Given the description of an element on the screen output the (x, y) to click on. 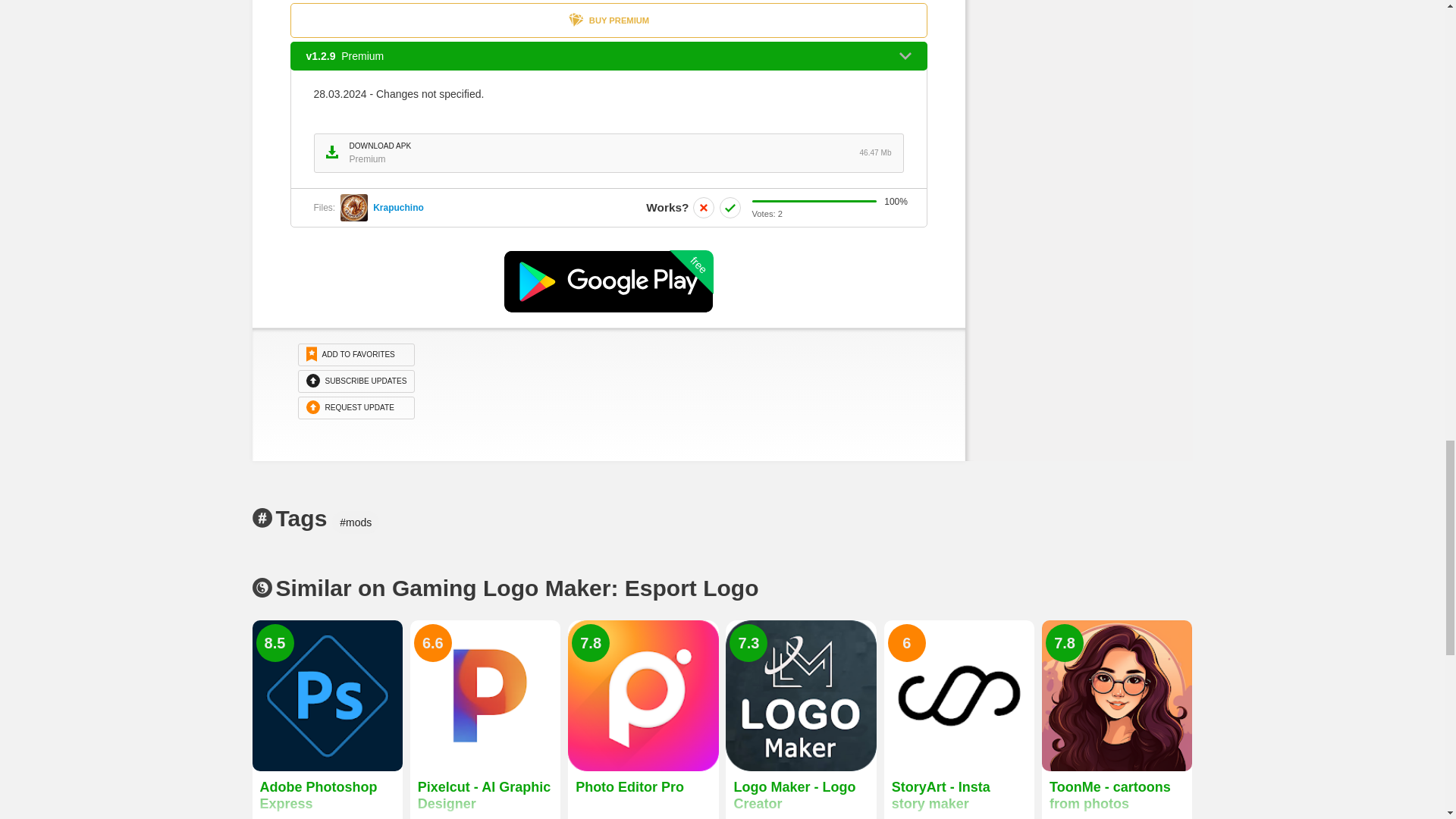
free (609, 152)
BUY PREMIUM (608, 281)
Krapuchino (607, 20)
